Given the description of an element on the screen output the (x, y) to click on. 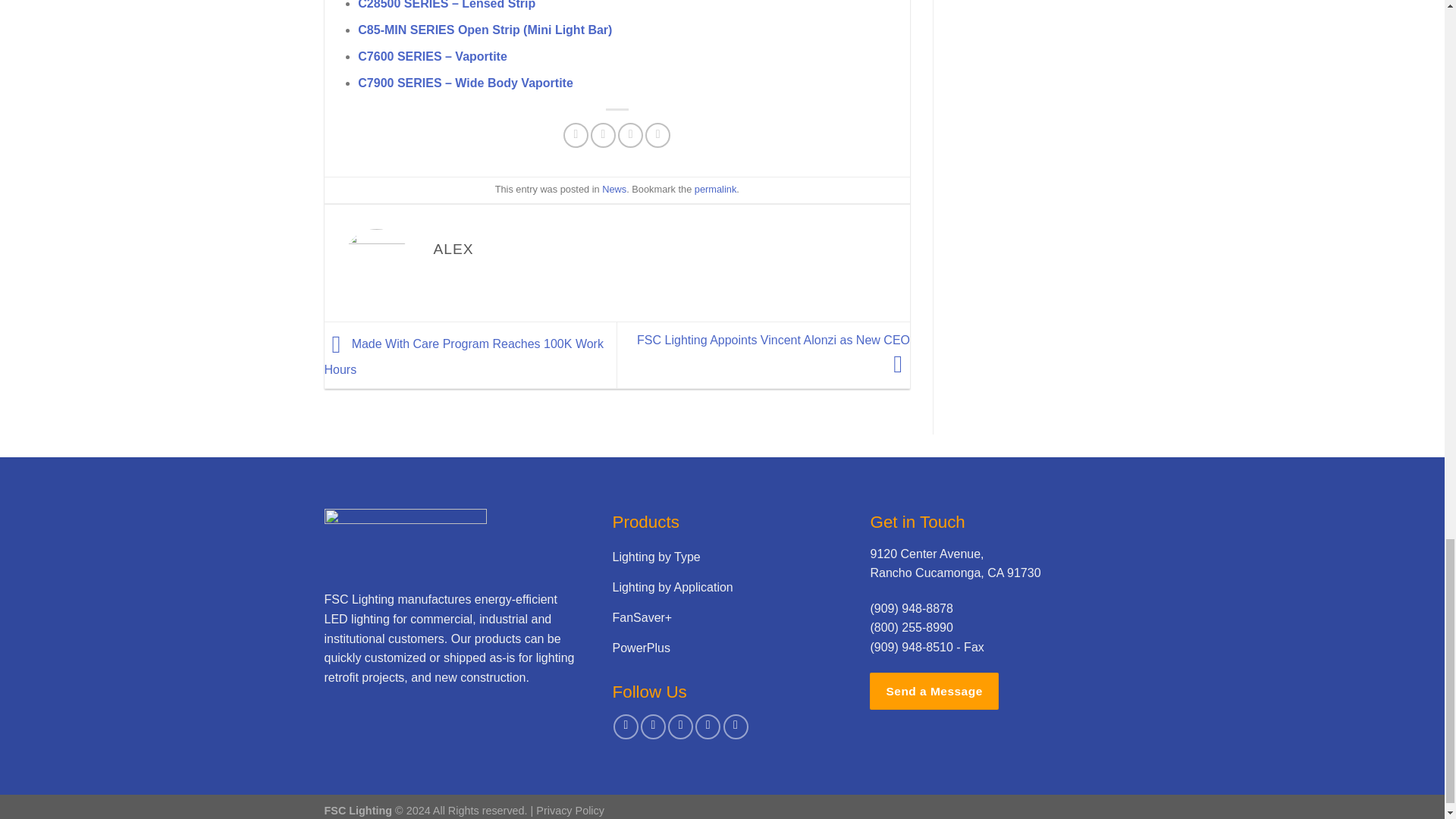
Share on Facebook (575, 135)
Follow on Facebook (625, 726)
Follow on LinkedIn (707, 726)
Follow on Twitter (680, 726)
Share on LinkedIn (657, 135)
Share on Twitter (603, 135)
Follow on Instagram (652, 726)
Email to a Friend (630, 135)
Follow on YouTube (735, 726)
